Given the description of an element on the screen output the (x, y) to click on. 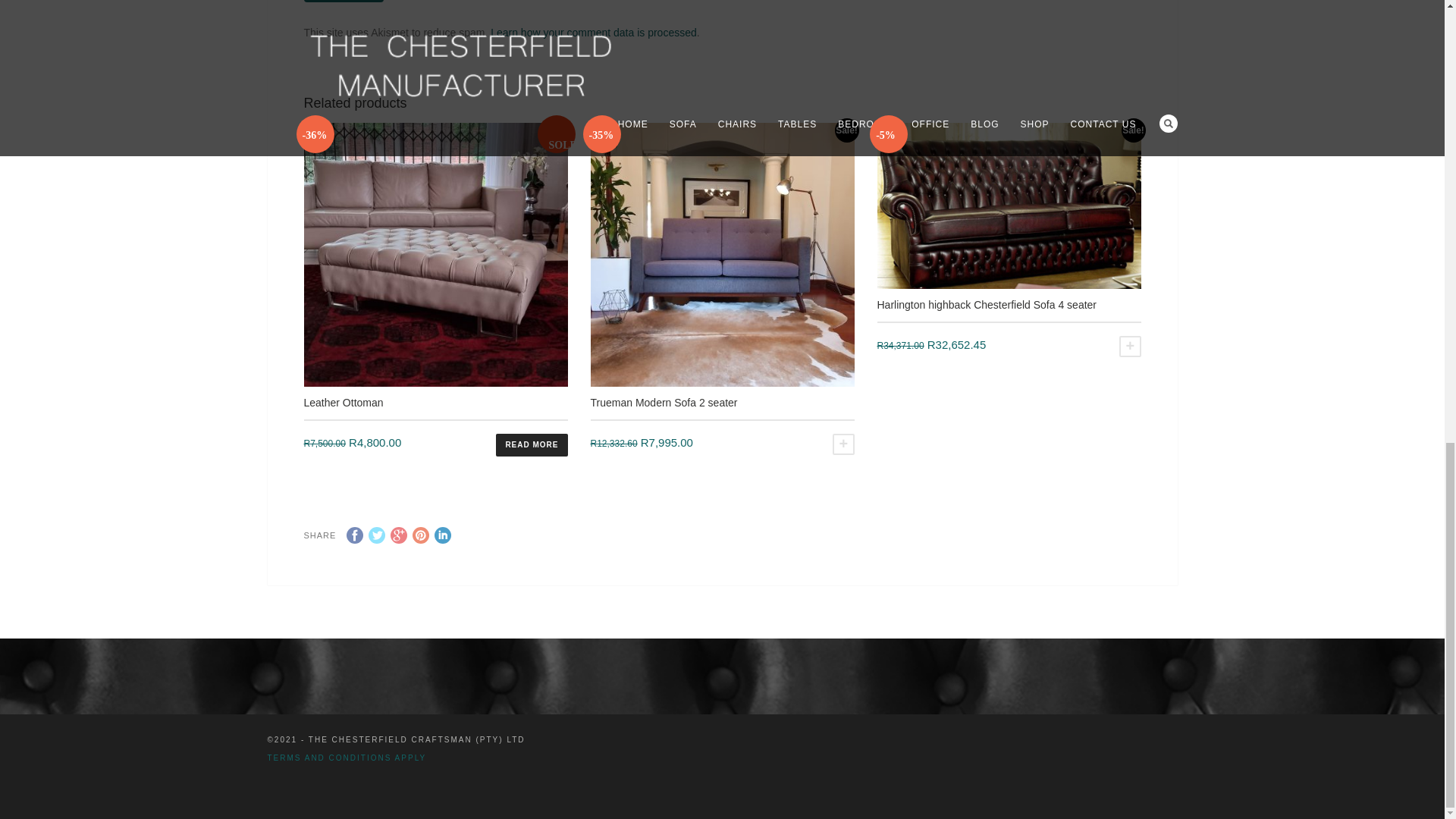
Submit (342, 1)
Pinterest (420, 535)
LinkedIn (442, 535)
Facebook (354, 535)
Twitter (376, 535)
